Given the description of an element on the screen output the (x, y) to click on. 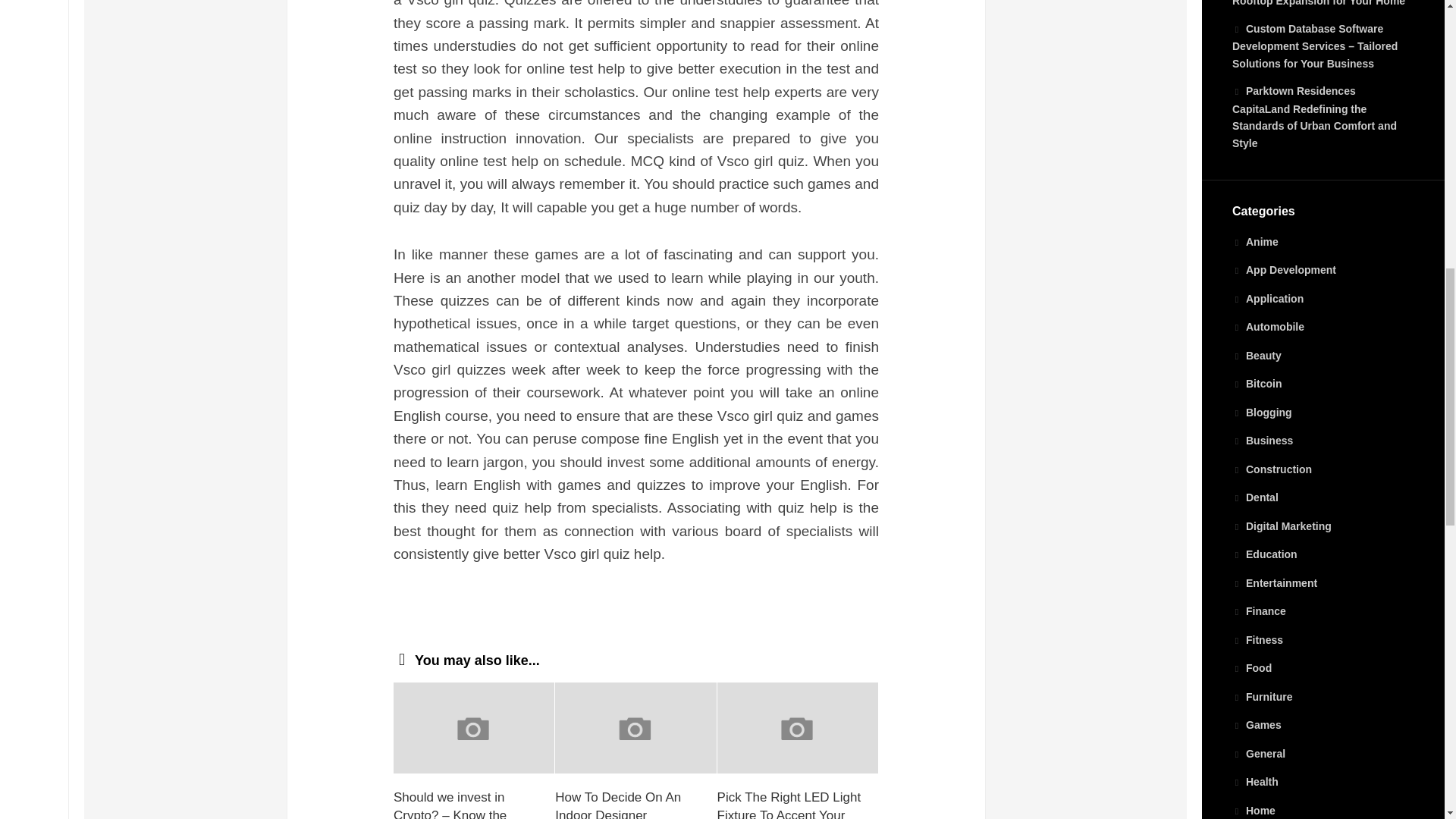
Construction (1271, 469)
Games (1256, 725)
General (1258, 753)
Automobile (1267, 326)
Health (1254, 781)
Application (1267, 298)
Finance (1258, 611)
Dental (1254, 497)
Entertainment (1274, 582)
Bitcoin (1256, 383)
Fitness (1256, 639)
Blogging (1261, 412)
App Development (1283, 269)
Business (1261, 440)
